Given the description of an element on the screen output the (x, y) to click on. 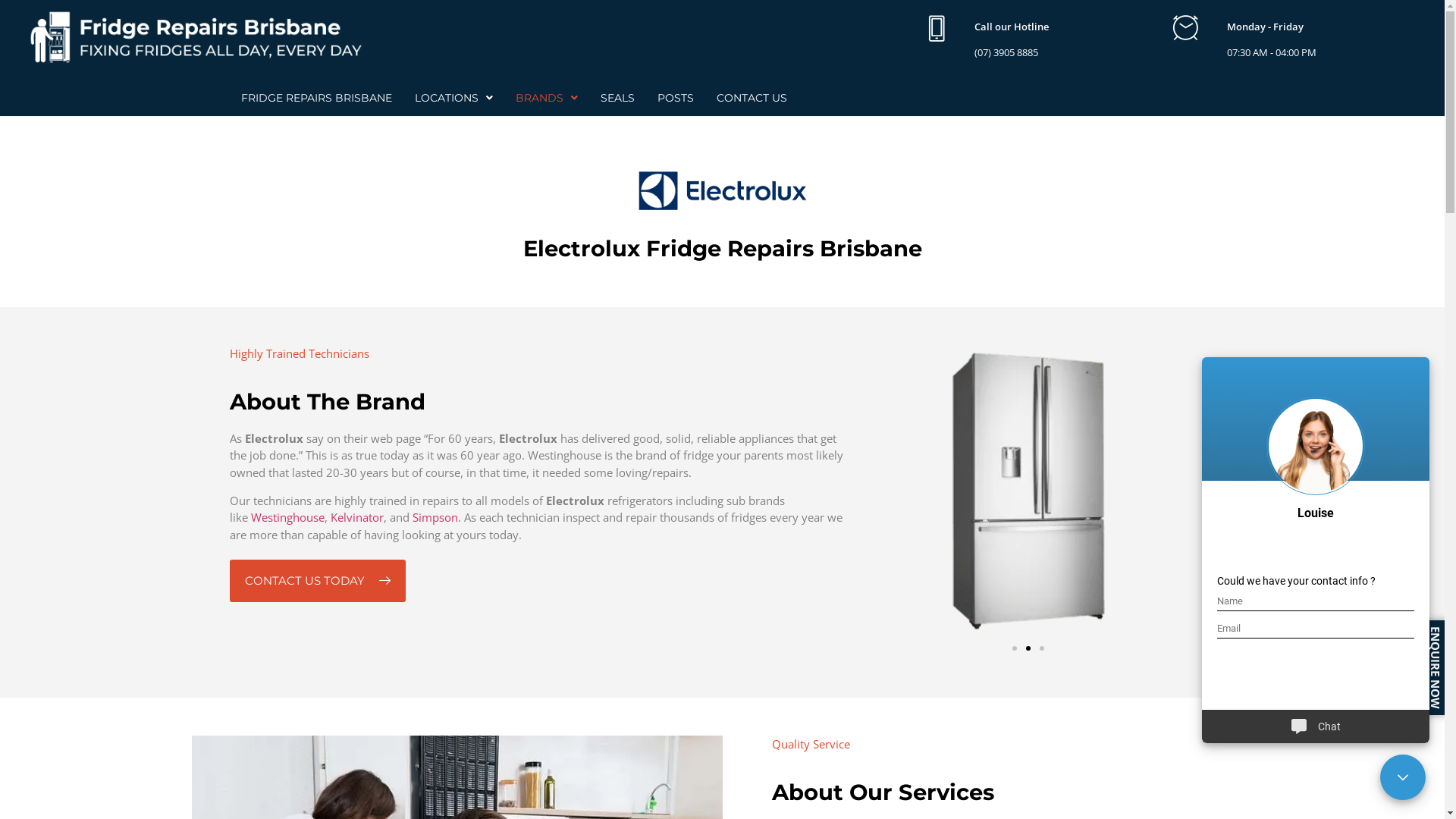
POSTS Element type: text (675, 97)
CONTACT US Element type: text (751, 97)
CONTACT US TODAY Element type: text (316, 580)
FRIDGE REPAIRS BRISBANE Element type: text (315, 97)
LOCATIONS Element type: text (453, 97)
SEALS Element type: text (616, 97)
Simpson Element type: text (435, 516)
BRANDS Element type: text (545, 97)
Electrolux Fridge Repairs Brisbane Element type: text (721, 248)
Kelvinator Element type: text (356, 516)
Westinghouse Element type: text (286, 516)
